Given the description of an element on the screen output the (x, y) to click on. 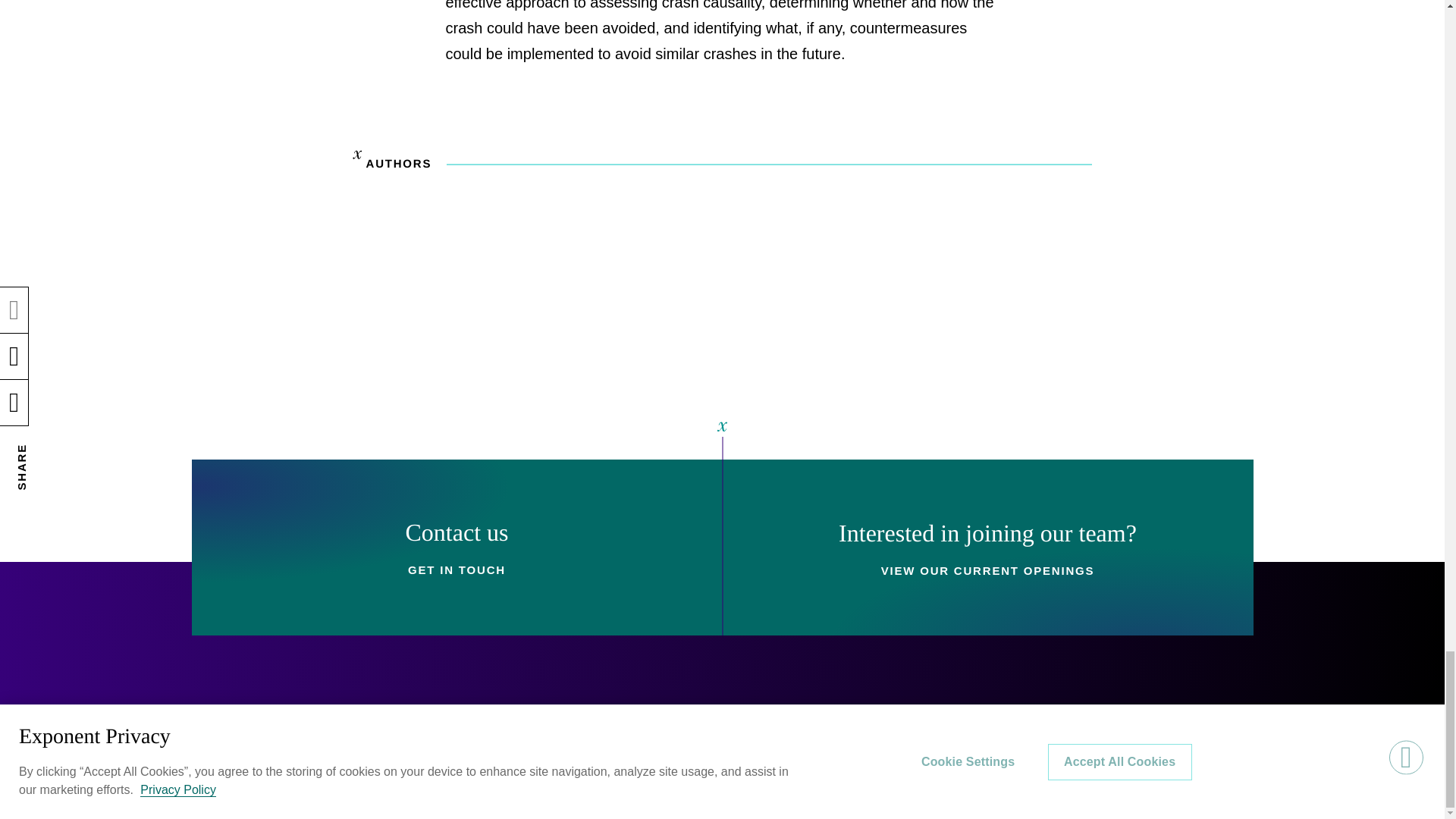
Exponent (256, 742)
